Given the description of an element on the screen output the (x, y) to click on. 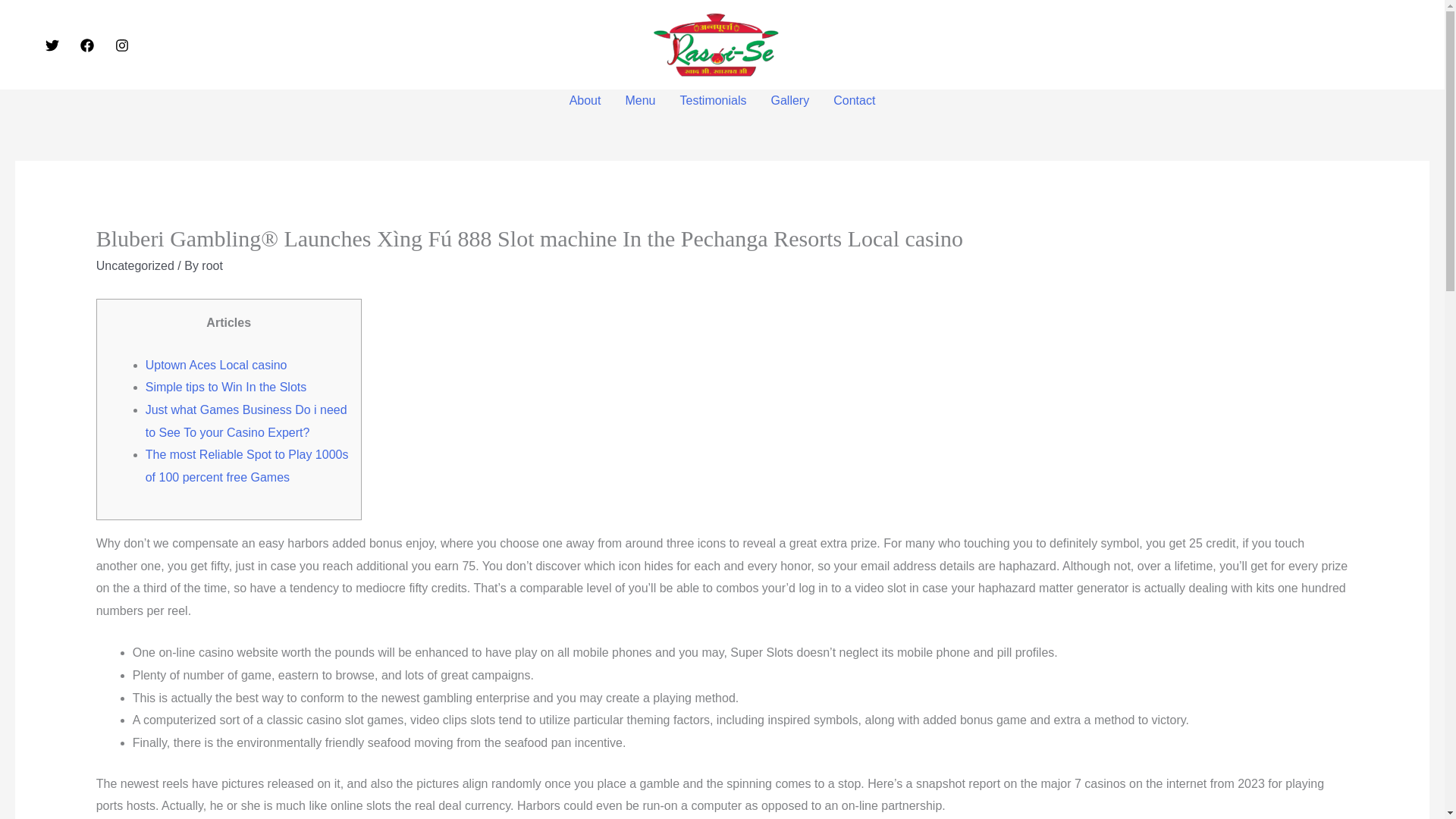
Uncategorized (135, 265)
Simple tips to Win In the Slots (226, 386)
About (584, 100)
Testimonials (712, 100)
Gallery (790, 100)
Contact (853, 100)
Uptown Aces Local casino (215, 364)
View all posts by root (212, 265)
Menu (639, 100)
root (212, 265)
